Given the description of an element on the screen output the (x, y) to click on. 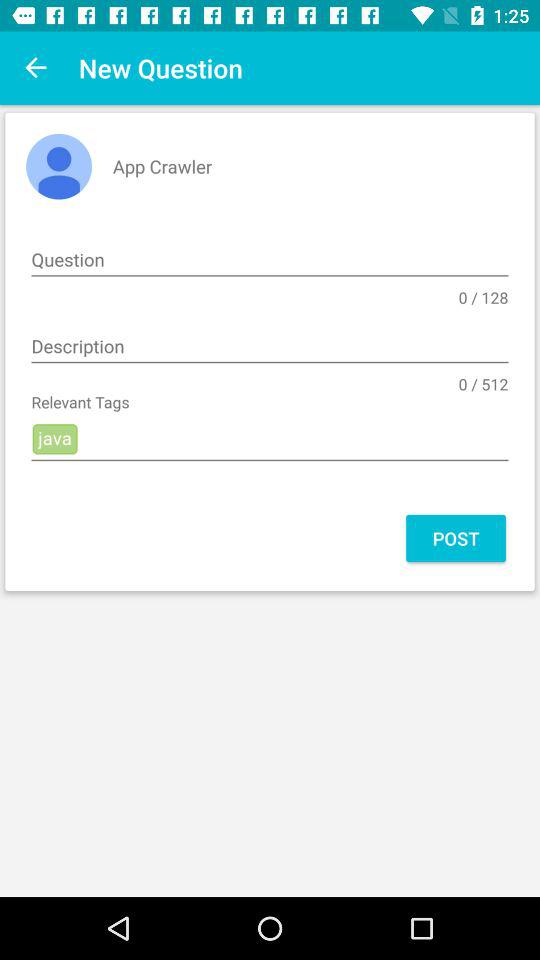
input question (269, 260)
